Given the description of an element on the screen output the (x, y) to click on. 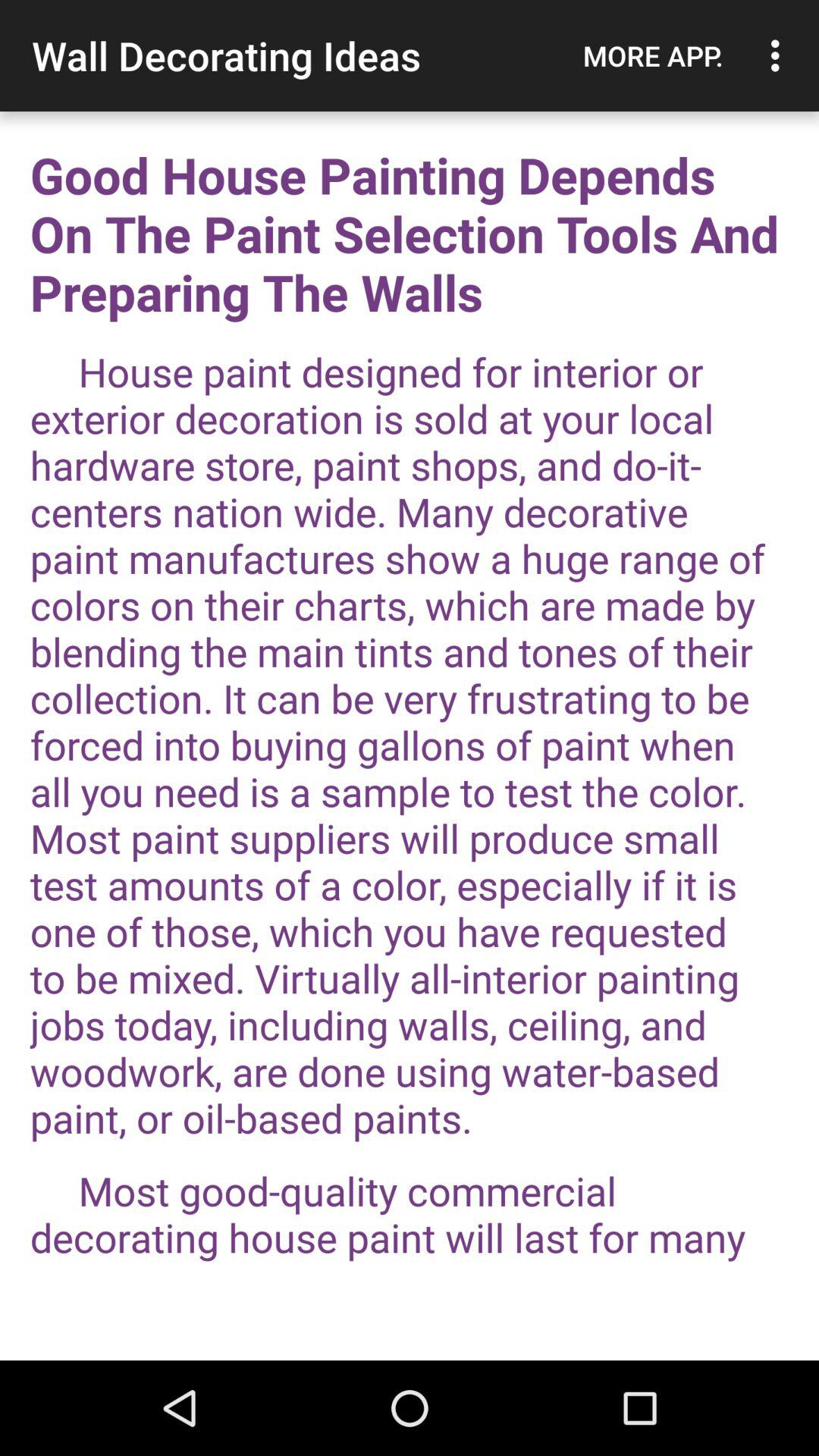
flip to the more app. item (653, 55)
